Given the description of an element on the screen output the (x, y) to click on. 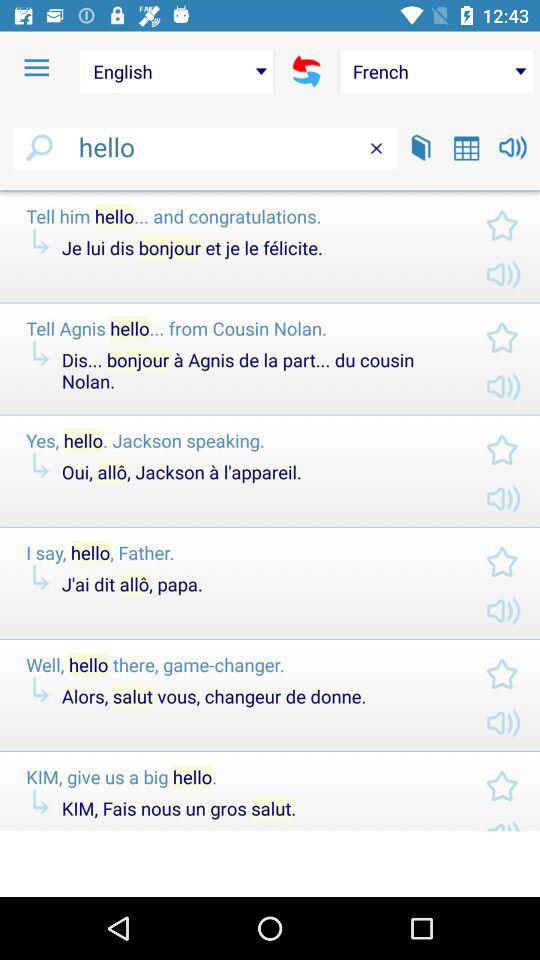
refresh (306, 71)
